Given the description of an element on the screen output the (x, y) to click on. 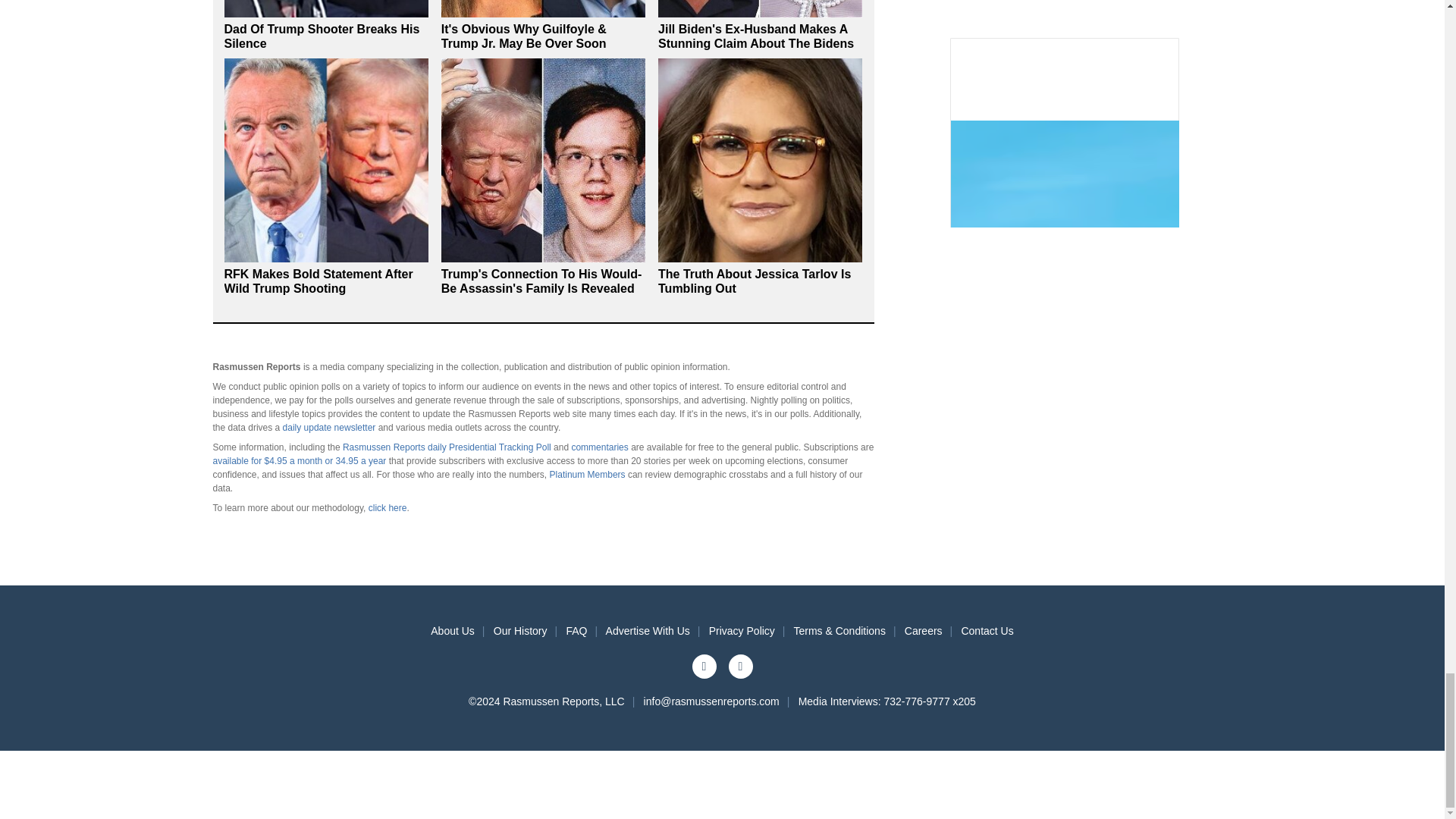
Dad Of Trump Shooter Breaks His Silence (322, 35)
